Given the description of an element on the screen output the (x, y) to click on. 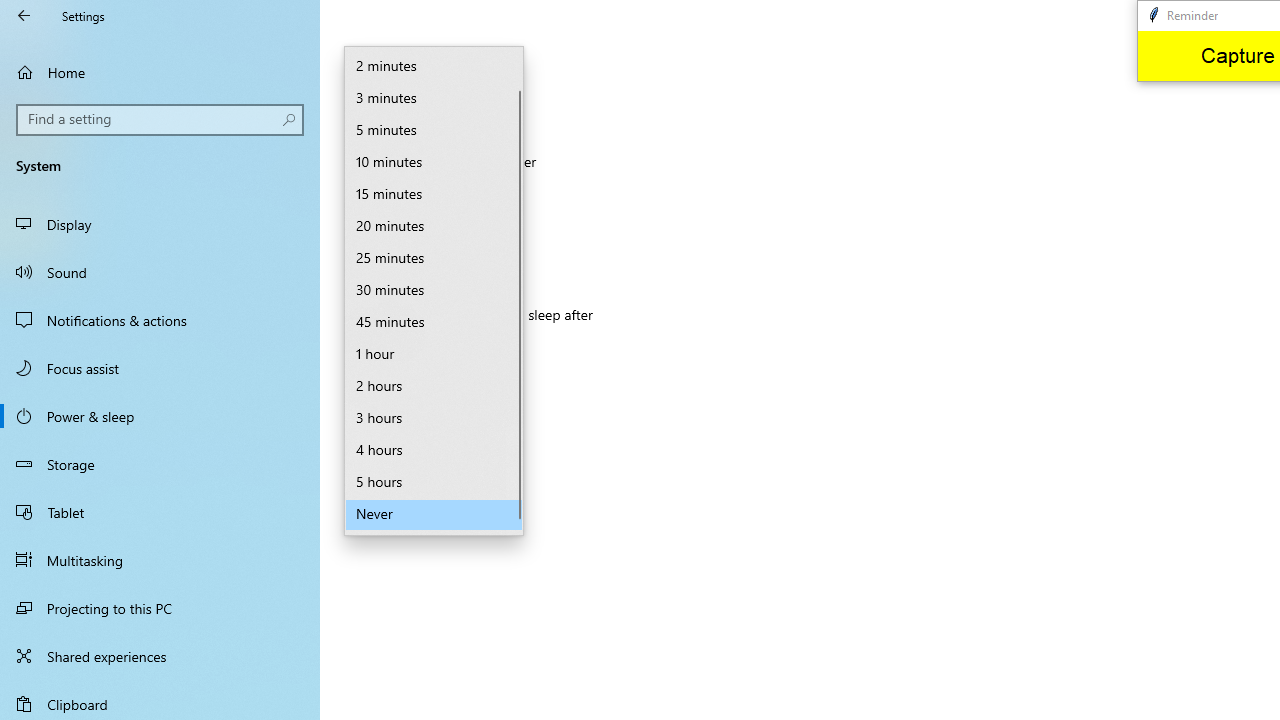
Tablet (160, 511)
